Given the description of an element on the screen output the (x, y) to click on. 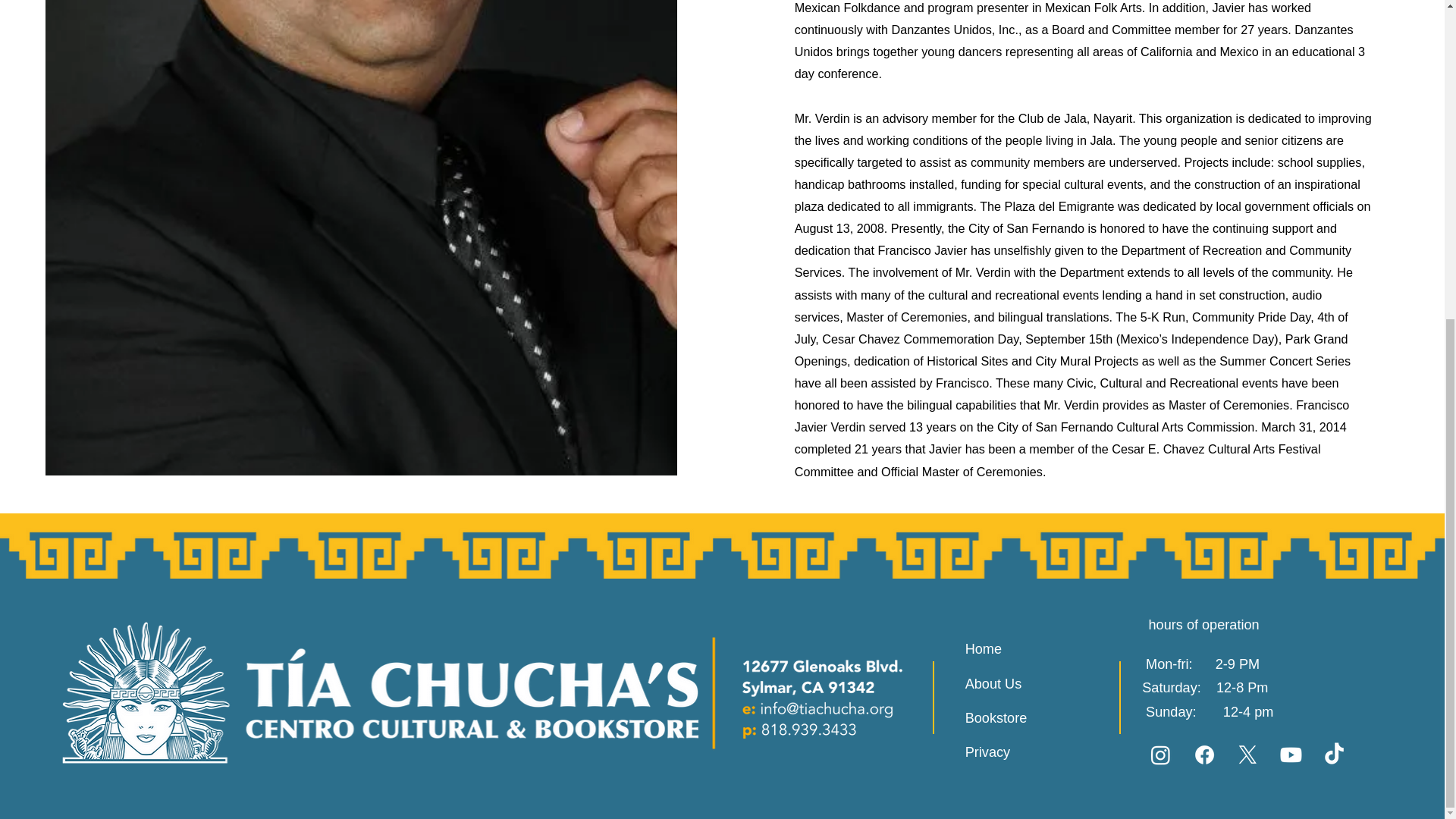
About Us (1038, 684)
Home (1038, 649)
Bookstore (1038, 718)
Privacy (1038, 752)
